Given the description of an element on the screen output the (x, y) to click on. 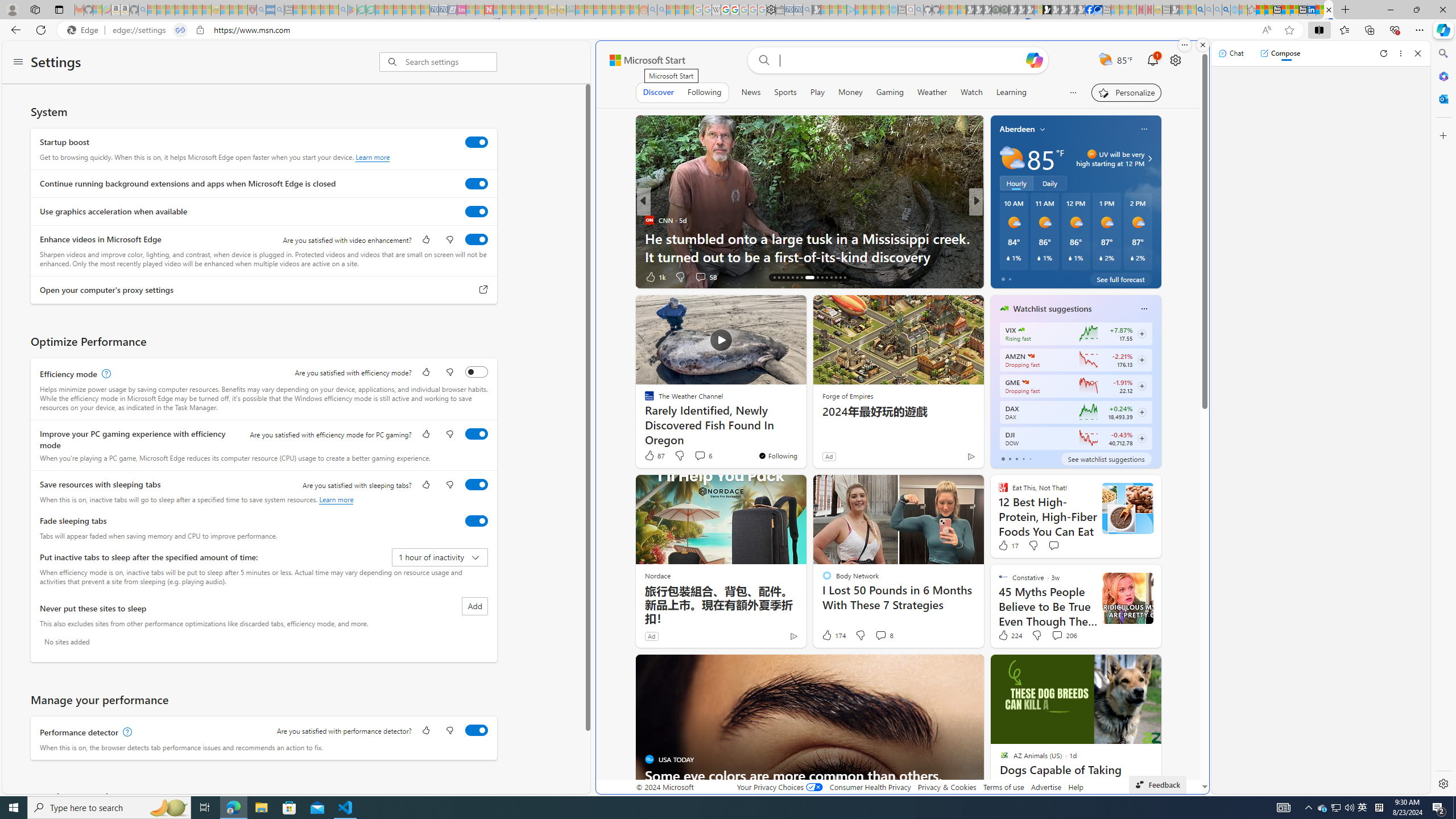
Dislike (1036, 634)
Learning (1010, 92)
See watchlist suggestions (1105, 459)
View comments 142 Comment (700, 276)
AutomationID: tab-25 (821, 277)
Kinda Frugal - MSN - Sleeping (616, 9)
Local - MSN - Sleeping (242, 9)
Microsoft account | Privacy (1294, 9)
PC World (999, 238)
list of asthma inhalers uk - Search - Sleeping (260, 9)
5 Nuts Your Dogs Can Eat Safely, and 4 to Avoid (463, 256)
